Given the description of an element on the screen output the (x, y) to click on. 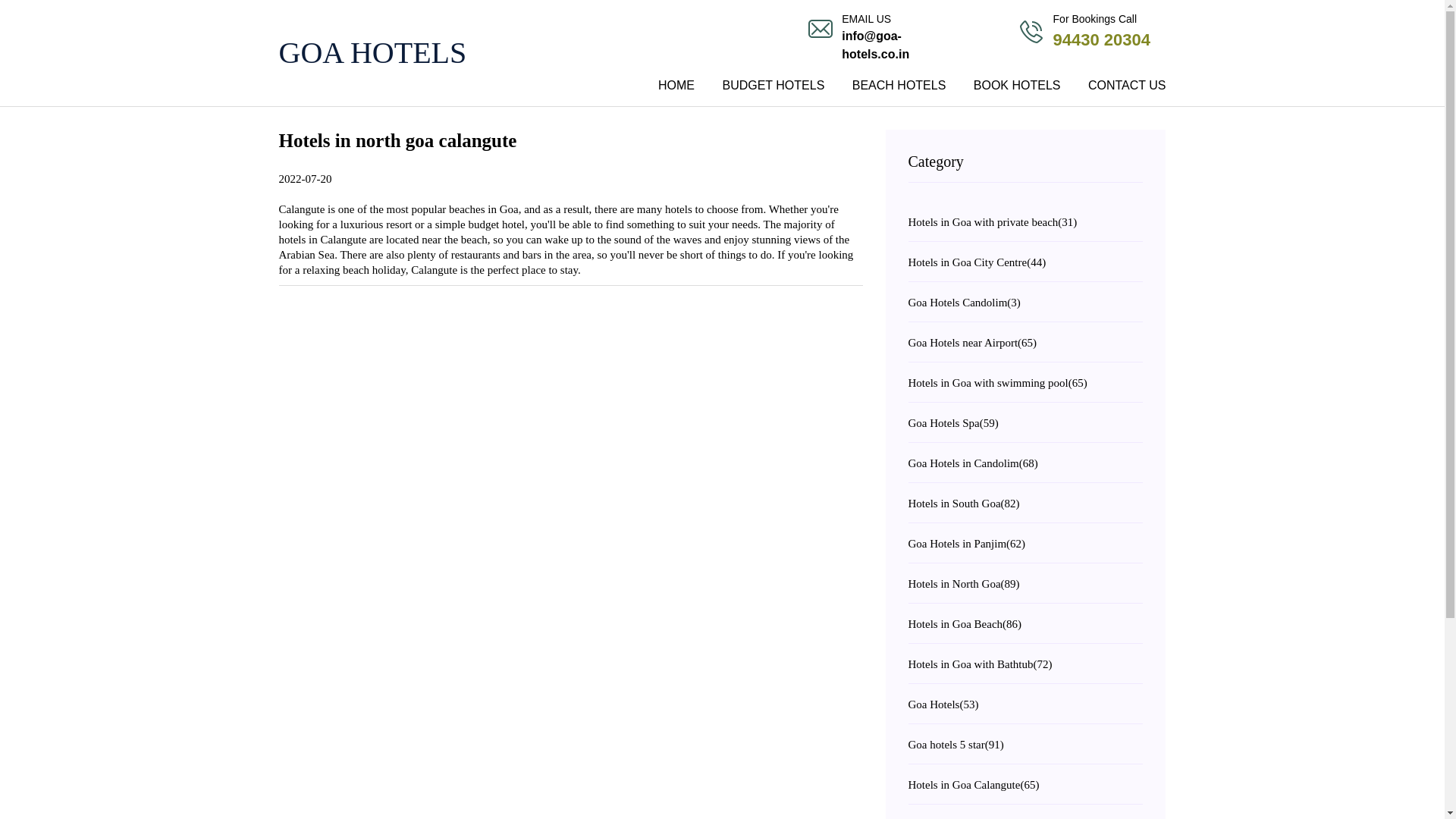
HOME (676, 88)
BEACH HOTELS (899, 88)
BUDGET HOTELS (772, 88)
GOA HOTELS (571, 161)
CONTACT US (419, 53)
94430 20304 (1120, 88)
BOOK HOTELS (1101, 39)
